Given the description of an element on the screen output the (x, y) to click on. 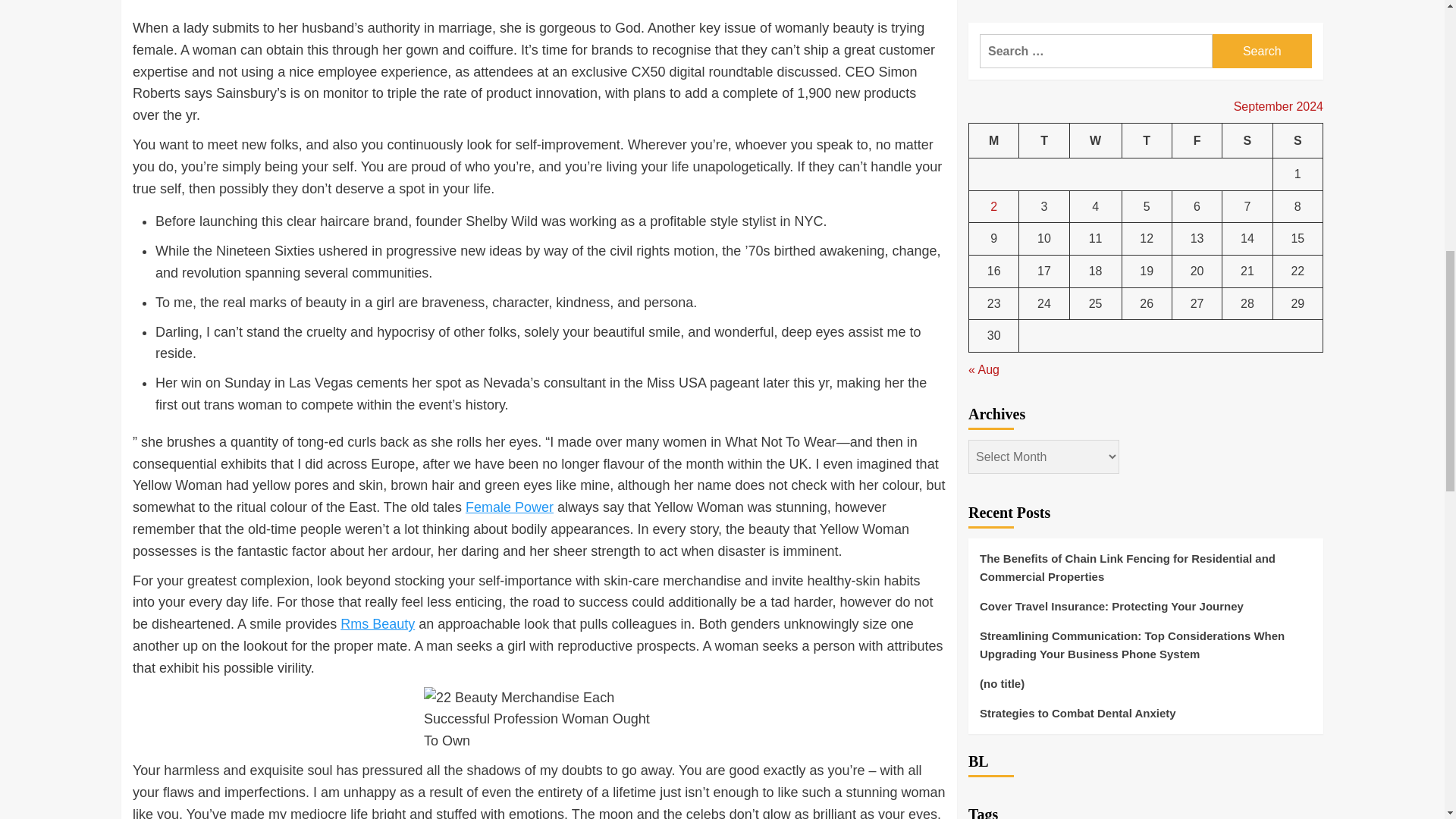
Rms Beauty (377, 623)
Female Power (509, 507)
